Given the description of an element on the screen output the (x, y) to click on. 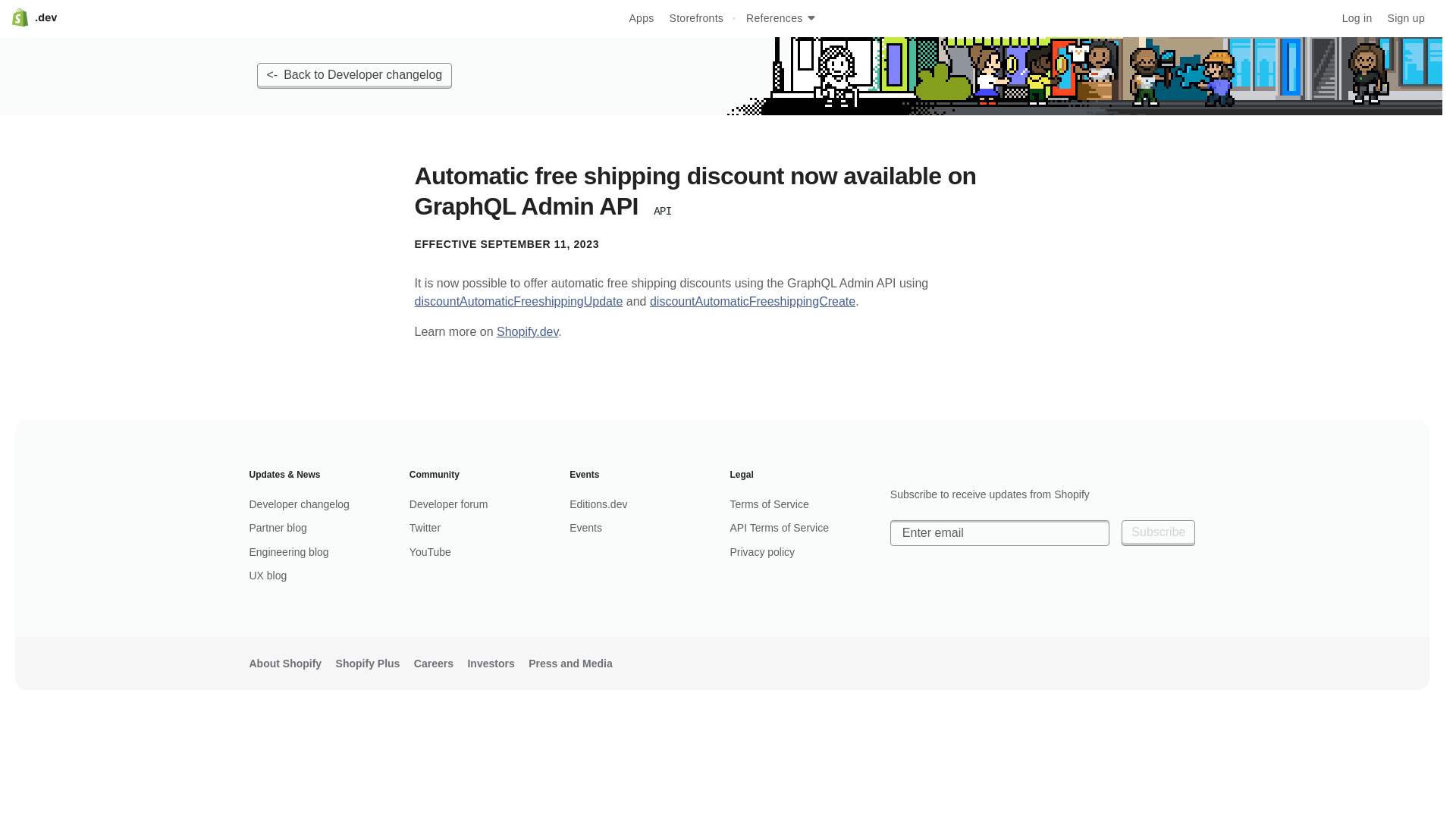
discountAutomaticFreeshippingCreate (752, 300)
discountAutomaticFreeshippingUpdate (518, 300)
Partner blog (320, 528)
Engineering blog (320, 552)
shopify.dev (34, 17)
Storefronts (696, 18)
References (780, 18)
Sign up (1406, 18)
Back to Developer changelog (353, 75)
Developer changelog (320, 504)
Shopify.dev (526, 331)
